Given the description of an element on the screen output the (x, y) to click on. 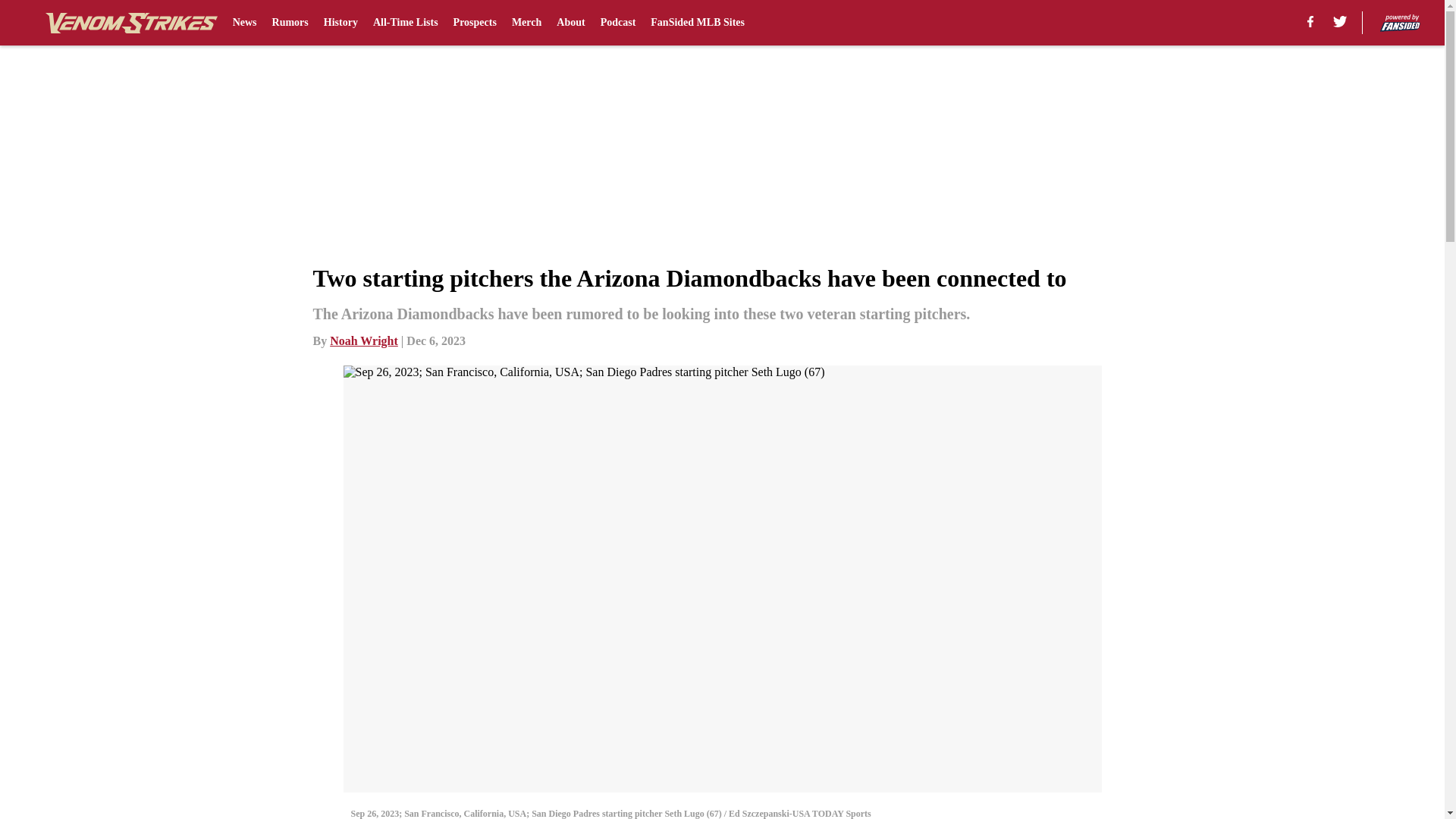
Noah Wright (363, 340)
Prospects (474, 22)
Podcast (617, 22)
About (570, 22)
All-Time Lists (405, 22)
History (340, 22)
Rumors (290, 22)
News (244, 22)
Merch (526, 22)
FanSided MLB Sites (697, 22)
